Given the description of an element on the screen output the (x, y) to click on. 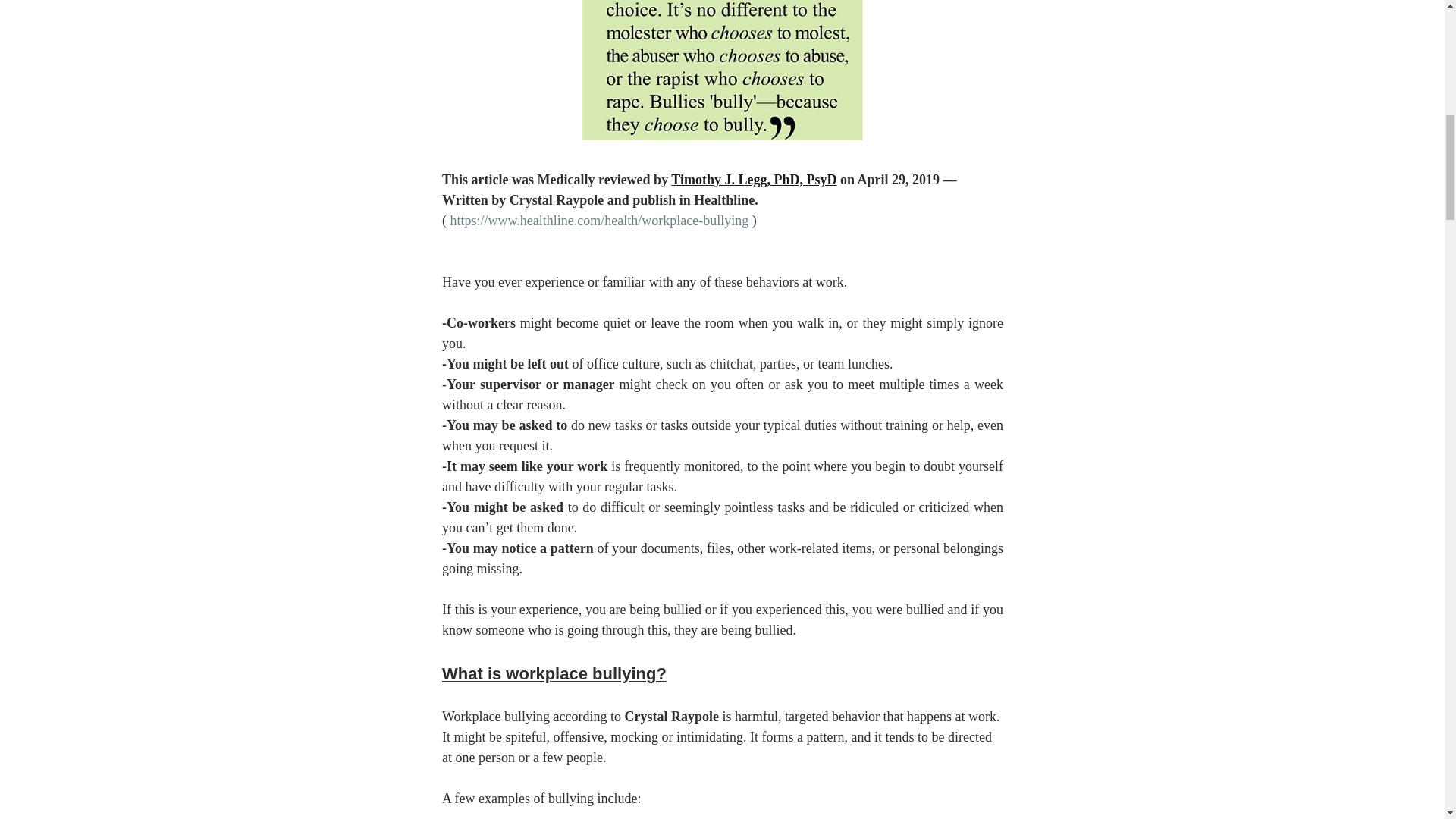
Timothy J. Legg, PhD, PsyD (753, 179)
